Given the description of an element on the screen output the (x, y) to click on. 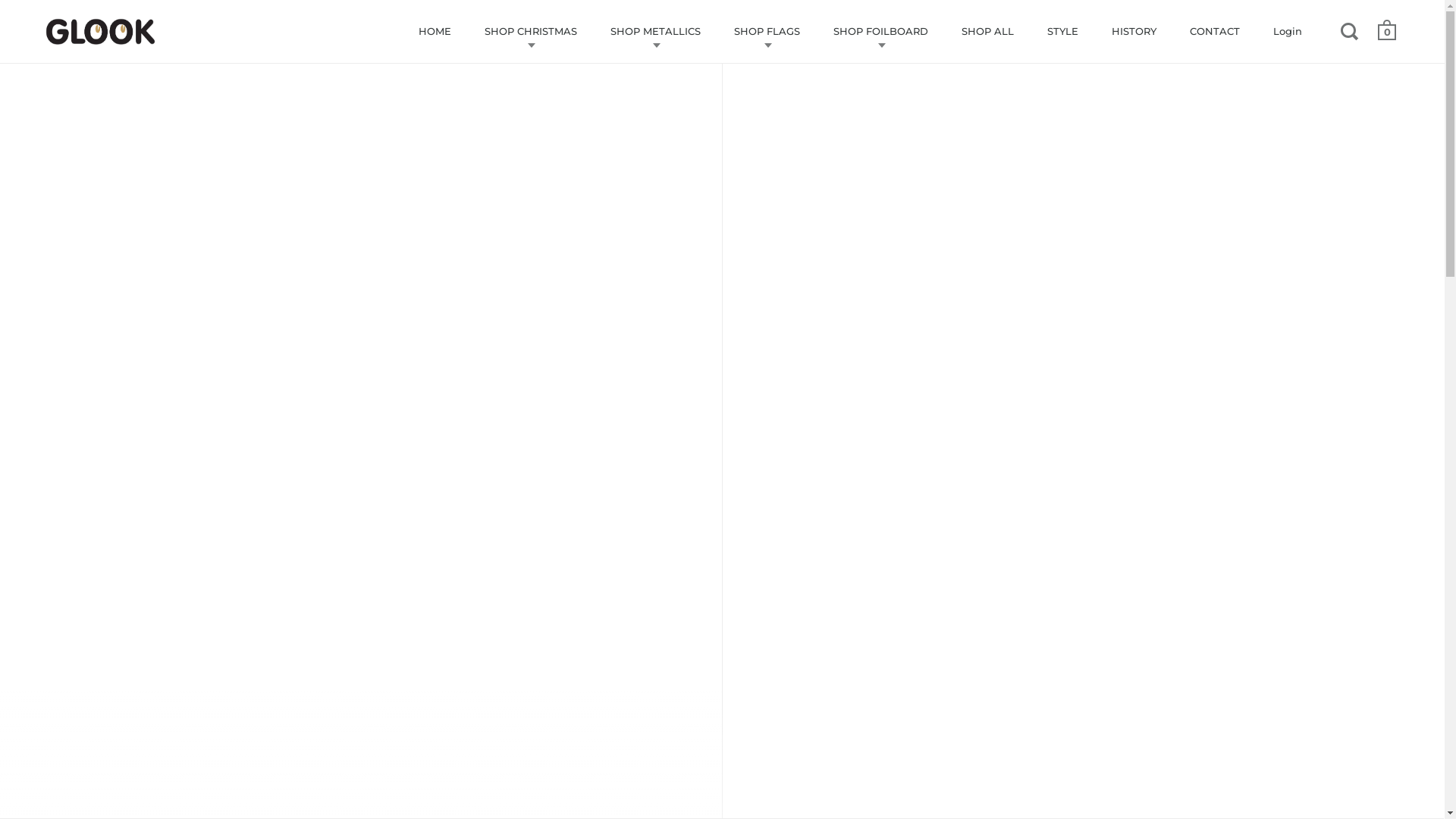
HISTORY Element type: text (1133, 31)
STYLE Element type: text (1062, 31)
Sign up Element type: text (811, 545)
SHOP FOILBOARD Element type: text (880, 31)
Login Element type: text (1287, 31)
SHOP FLAGS Element type: text (766, 31)
SHOP CHRISTMAS Element type: text (530, 31)
0 Element type: text (1386, 32)
CONTACT Element type: text (1214, 31)
HOME Element type: text (434, 31)
SHOP ALL Element type: text (987, 31)
SHOP METALLICS Element type: text (655, 31)
Open search Element type: hover (1350, 30)
